Given the description of an element on the screen output the (x, y) to click on. 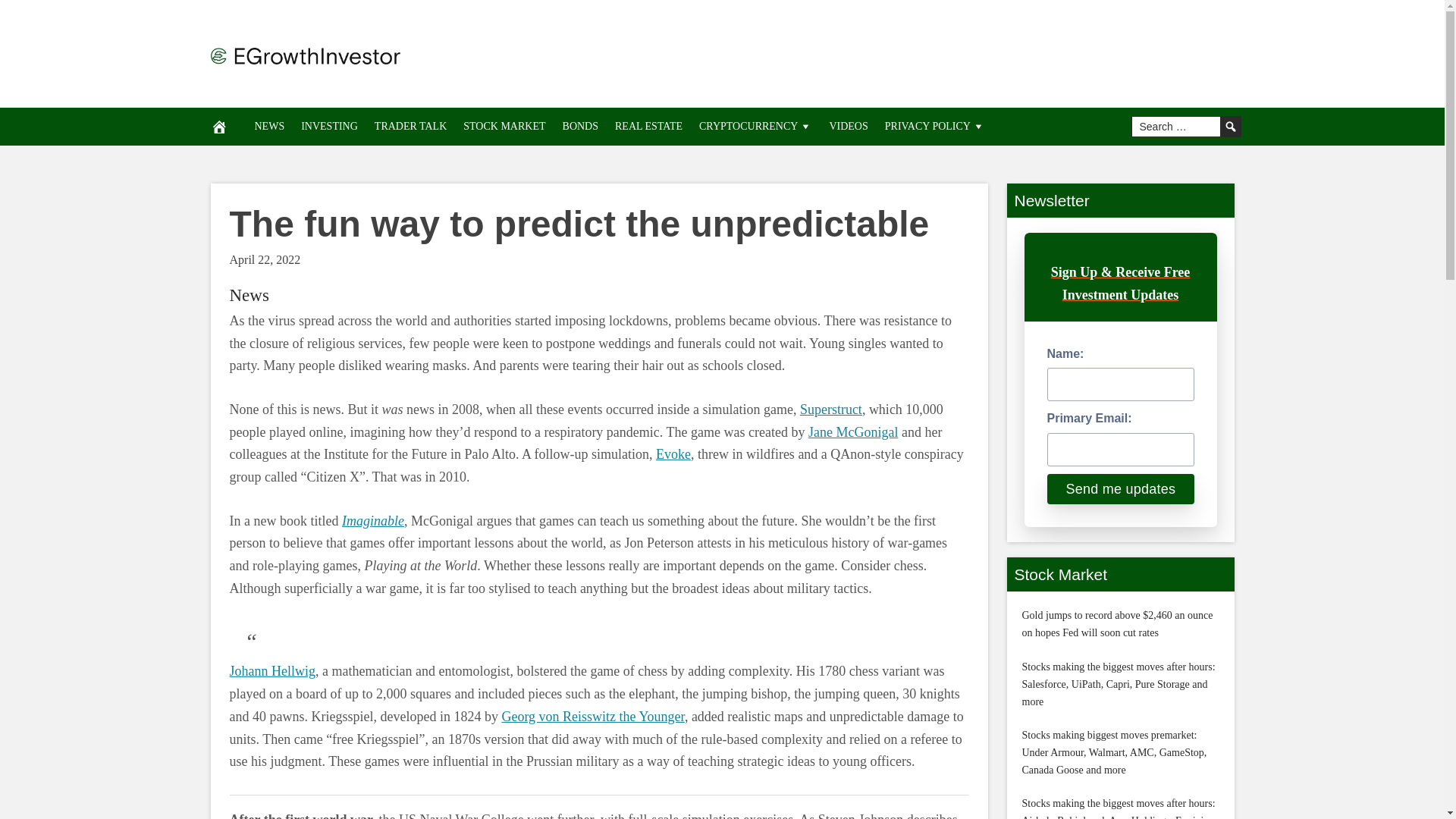
PRIVACY POLICY (934, 126)
TRADER TALK (410, 126)
Jane McGonigal (853, 432)
INVESTING (329, 126)
VIDEOS (848, 126)
STOCK MARKET (503, 126)
BONDS (580, 126)
Send me updates (1119, 489)
News (247, 294)
Superstruct (830, 409)
CRYPTOCURRENCY (755, 126)
NEWS (269, 126)
News (247, 294)
REAL ESTATE (648, 126)
